Given the description of an element on the screen output the (x, y) to click on. 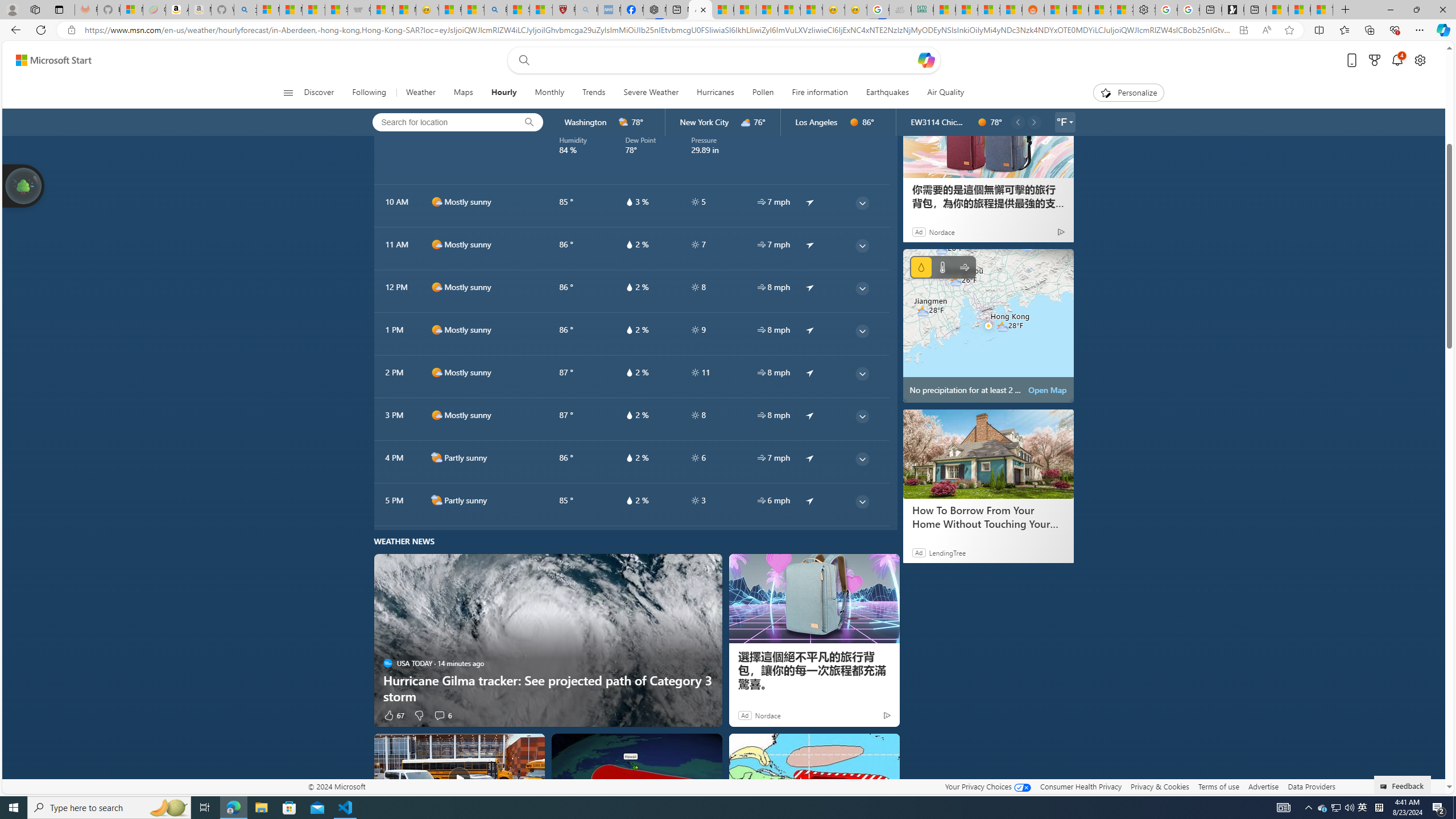
hourlyTable/wind (761, 500)
Fire information (820, 92)
Temperature (942, 267)
App available. Install Microsoft Start Weather (1243, 29)
